Given the description of an element on the screen output the (x, y) to click on. 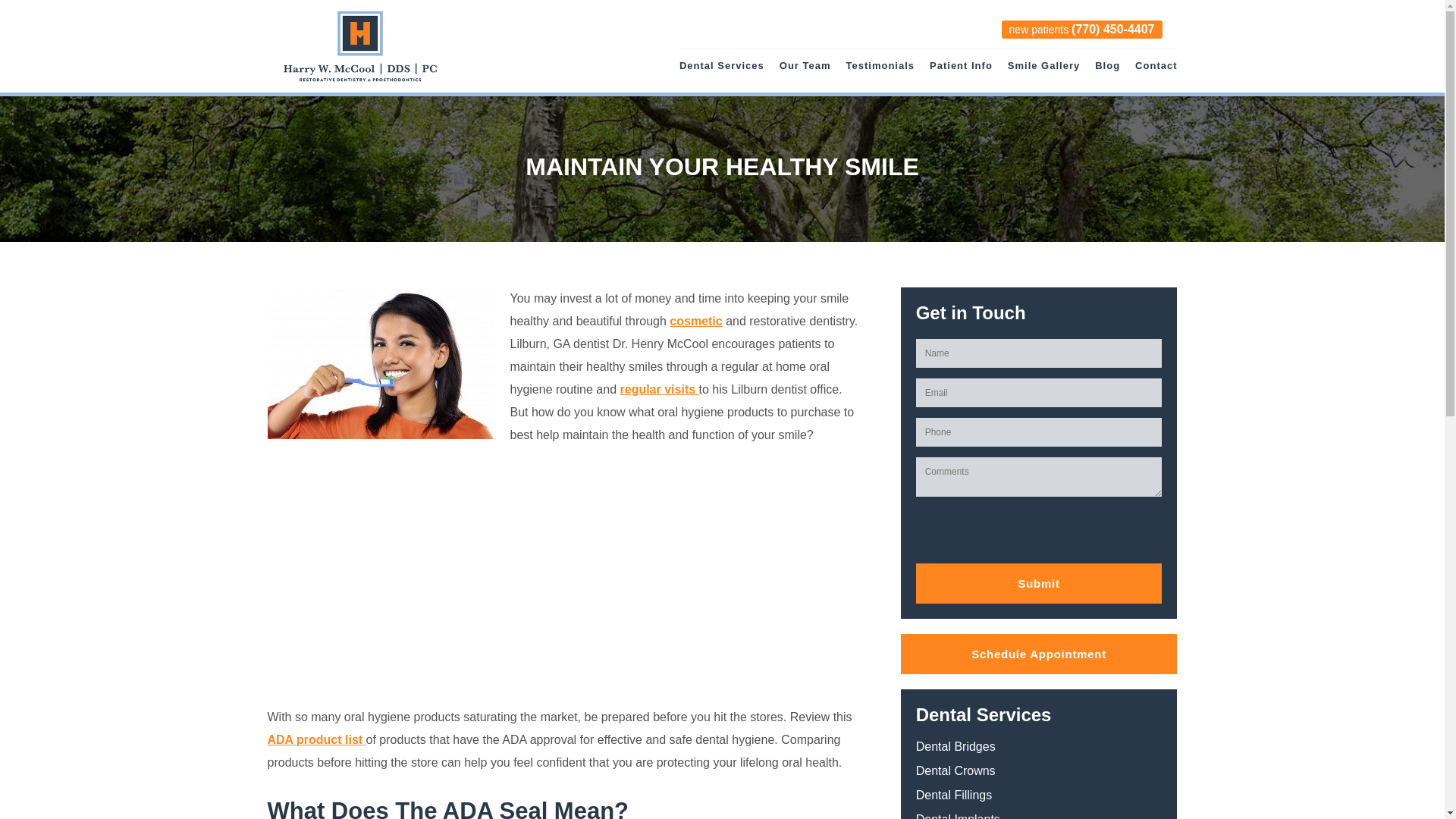
Patient Info (961, 72)
Smile Gallery (1043, 72)
Contact (1155, 72)
Our Team (804, 72)
Dental Services (721, 72)
Testimonials (880, 72)
